Given the description of an element on the screen output the (x, y) to click on. 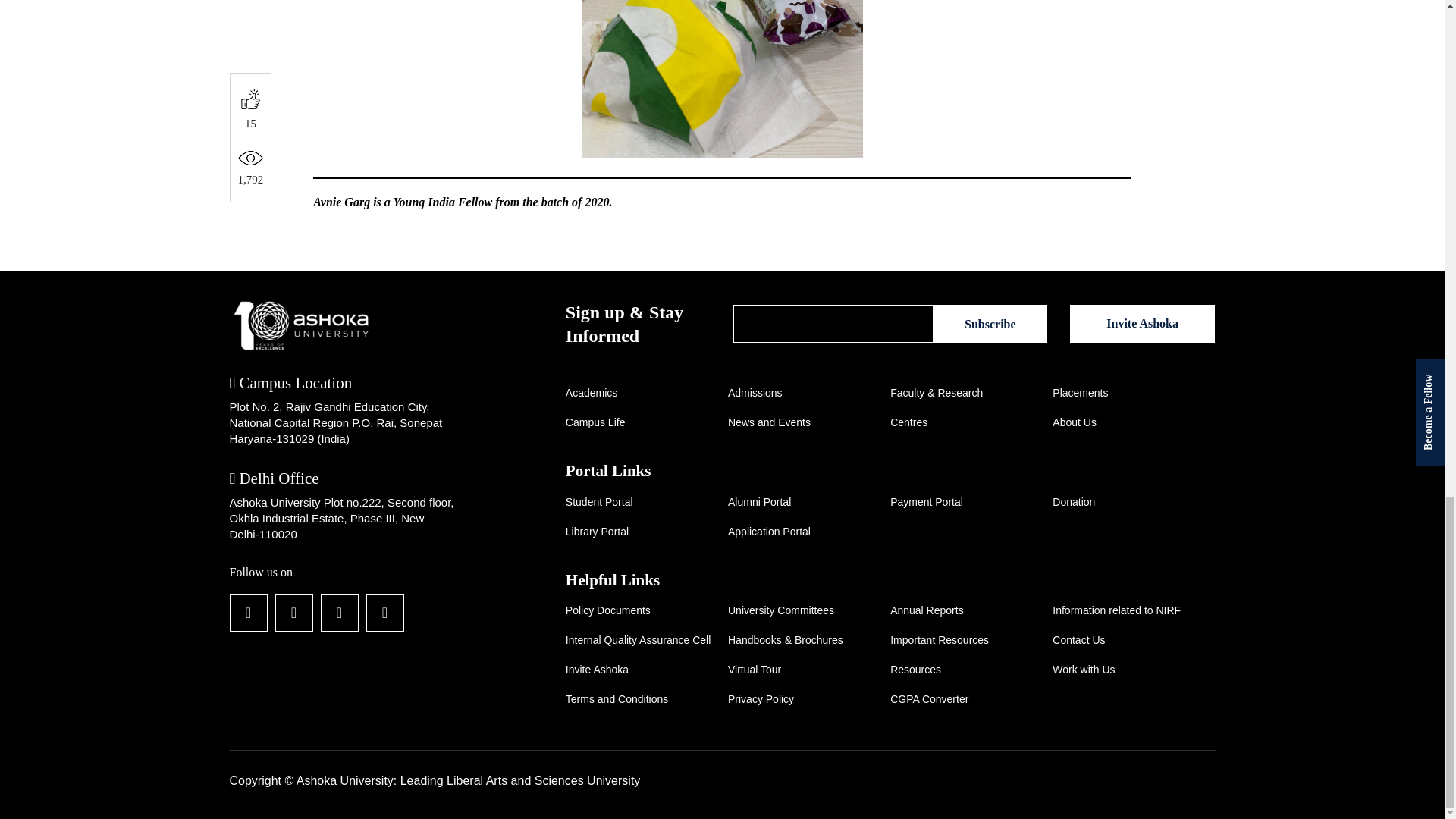
Subscribe (989, 323)
